Given the description of an element on the screen output the (x, y) to click on. 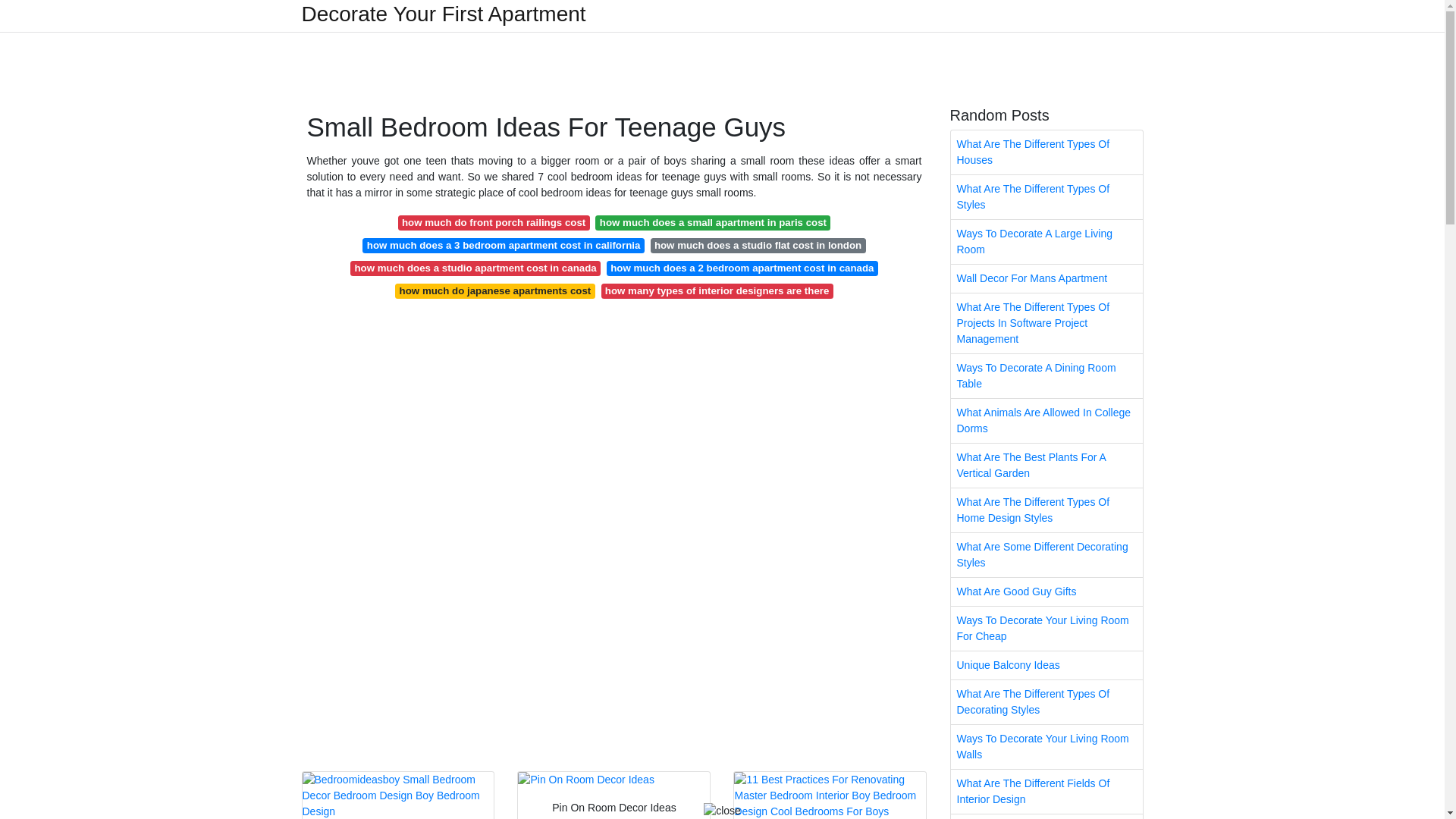
how much does a studio flat cost in london (758, 245)
how much does a 2 bedroom apartment cost in canada (742, 268)
Wall Decor For Mans Apartment (1046, 278)
how much do front porch railings cost (493, 222)
how much do japanese apartments cost (494, 290)
how much does a 3 bedroom apartment cost in california (502, 245)
What Are The Best Plants For A Vertical Garden (1046, 465)
how many types of interior designers are there (715, 290)
Decorate Your First Apartment (443, 13)
What Are The Different Types Of Home Design Styles (1046, 510)
